Given the description of an element on the screen output the (x, y) to click on. 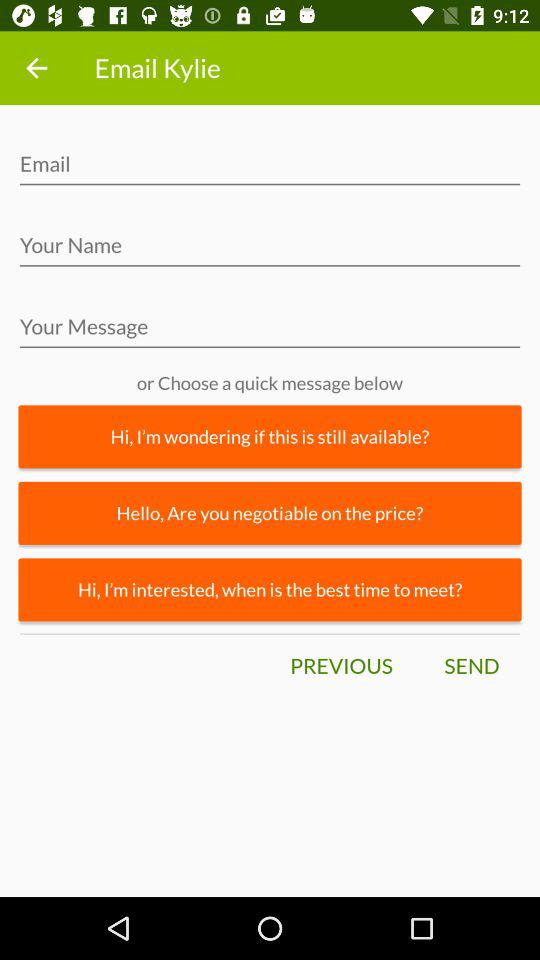
launch hello are you icon (269, 512)
